Given the description of an element on the screen output the (x, y) to click on. 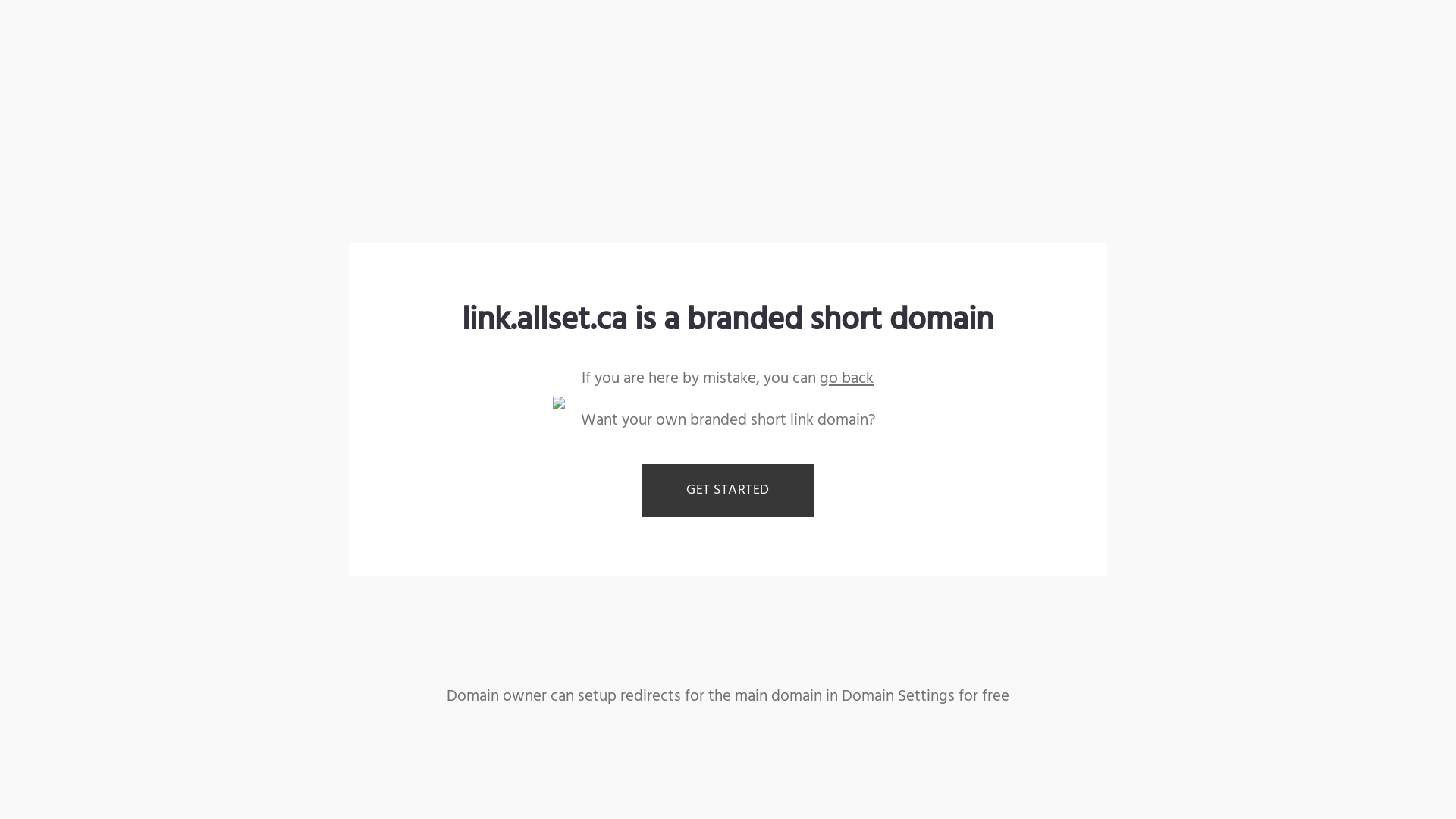
GET STARTED Element type: text (727, 490)
go back Element type: text (846, 378)
